Given the description of an element on the screen output the (x, y) to click on. 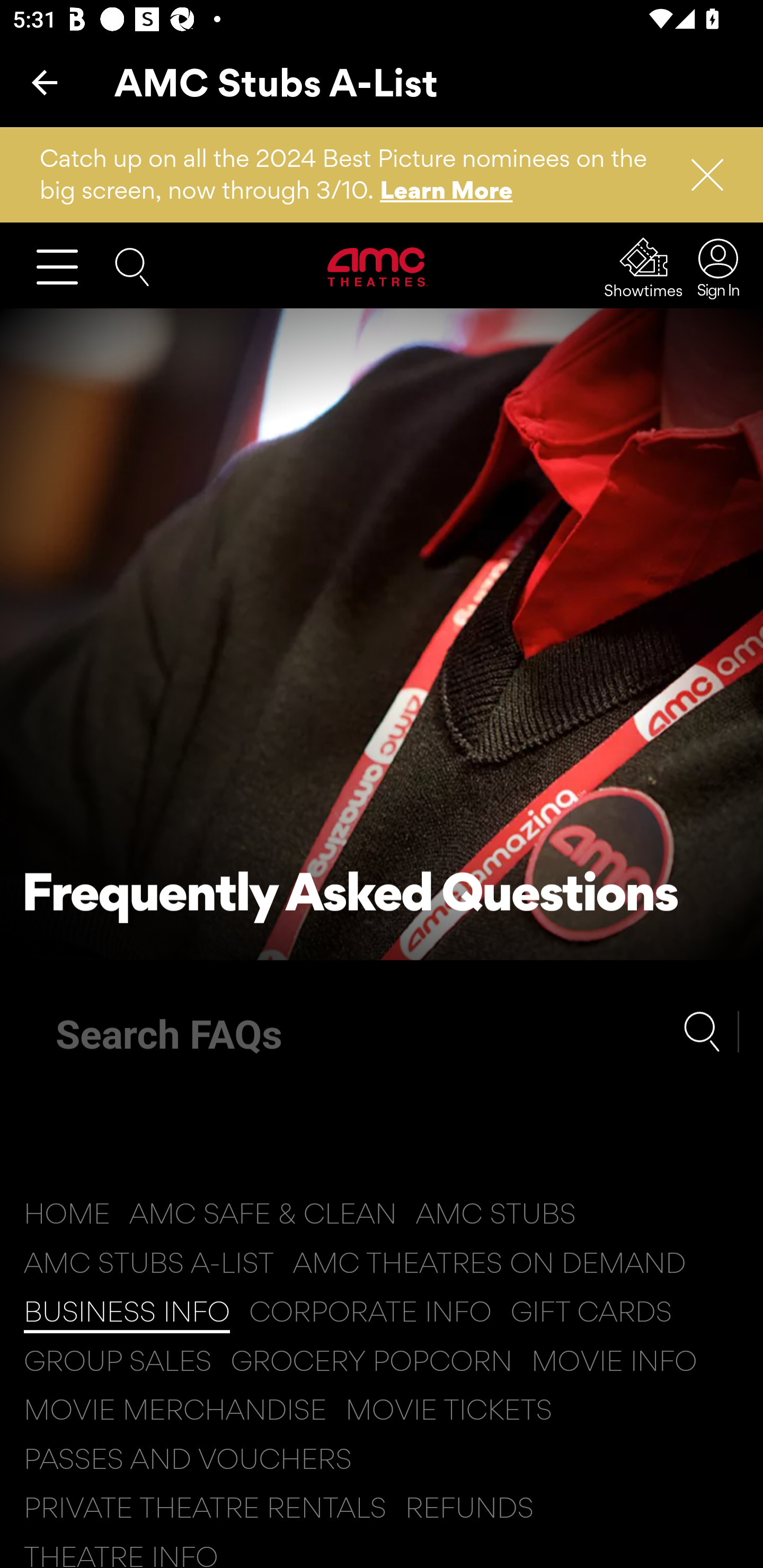
Back (44, 82)
Dismiss Notification (699, 174)
Learn More (446, 189)
Open Menu (64, 266)
Open Menu (64, 266)
Showtimes (643, 267)
Sign In (717, 267)
Search the AMC website (131, 265)
Visit Home Page AMC Theatres Logo (377, 266)
Submit Search Button (710, 1030)
